Given the description of an element on the screen output the (x, y) to click on. 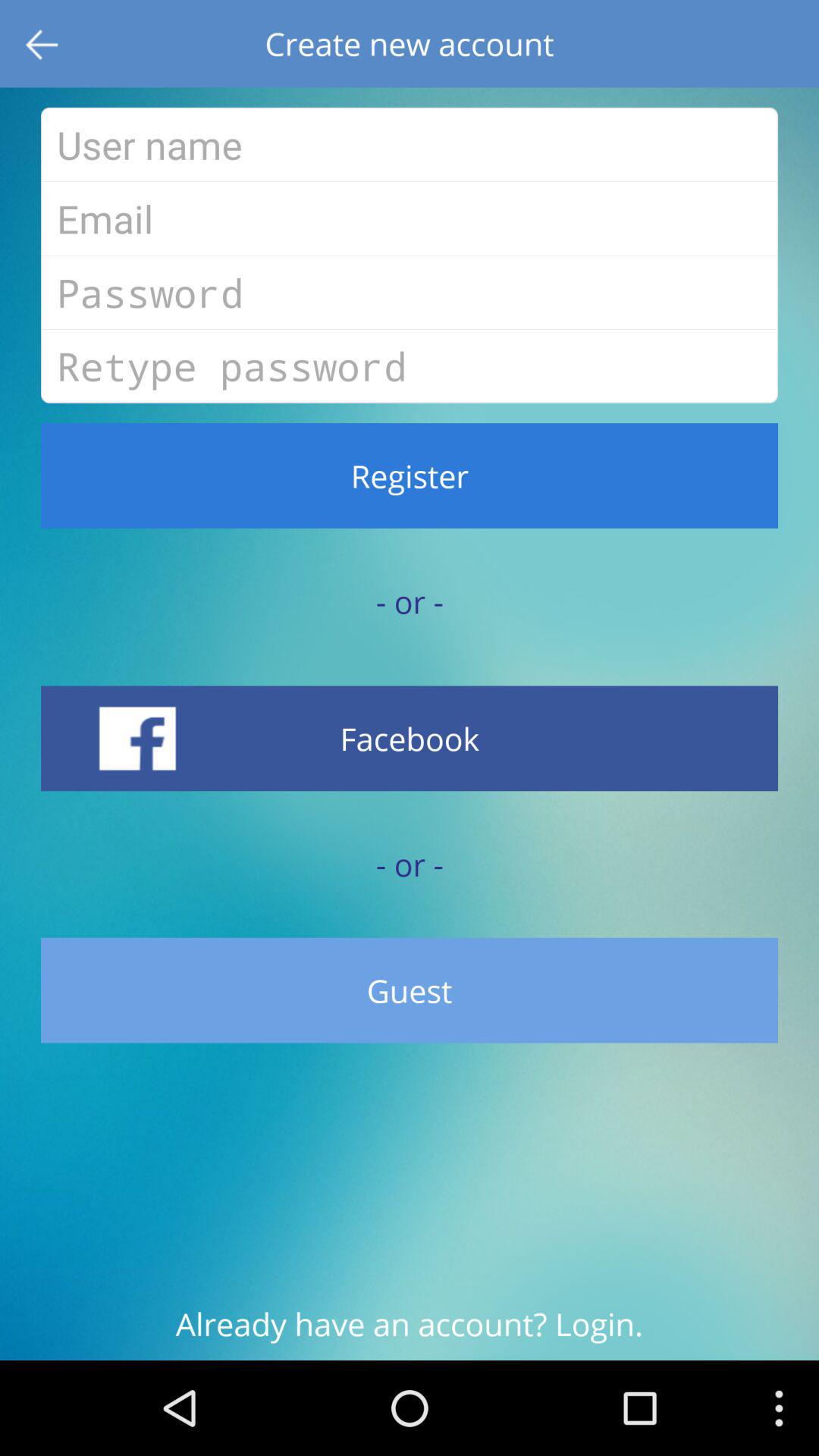
choose the icon above - or - item (409, 475)
